Given the description of an element on the screen output the (x, y) to click on. 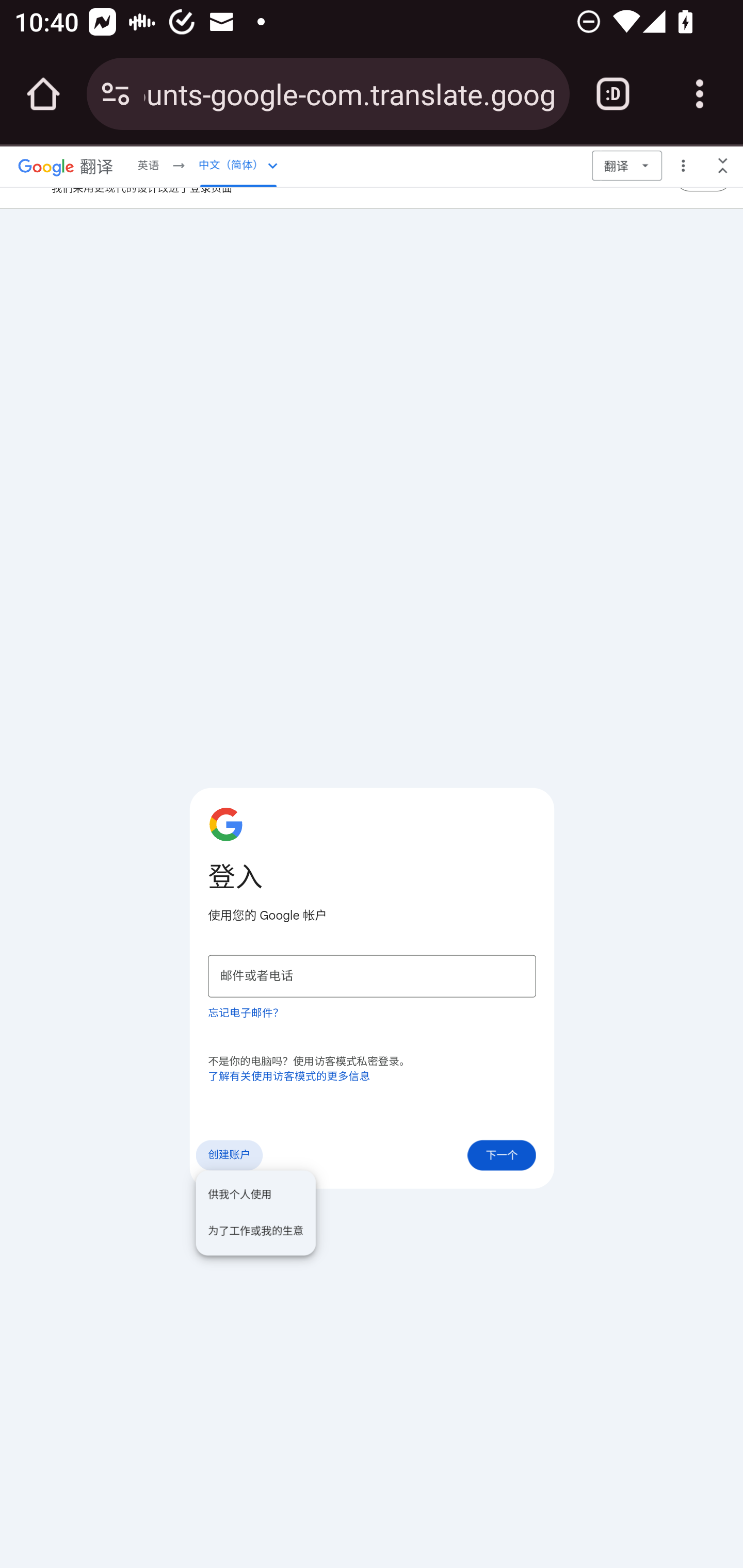
Open the home page (43, 93)
Connection is secure (115, 93)
Switch or close tabs (612, 93)
Customize and control Google Chrome (699, 93)
Google 翻译 Google 翻译 (65, 165)
英语 (147, 165)
中文（简体）  (237, 165)
更多菜单选项 (683, 165)
收起谷歌翻译导航栏 (722, 165)
忘记电子邮件？ (246, 1011)
了解有关使用访客模式的更多信息 (289, 1077)
创建账户 (229, 1155)
下一个 (501, 1155)
供我个人使用 (255, 1194)
为了工作或我的生意 (255, 1230)
